Given the description of an element on the screen output the (x, y) to click on. 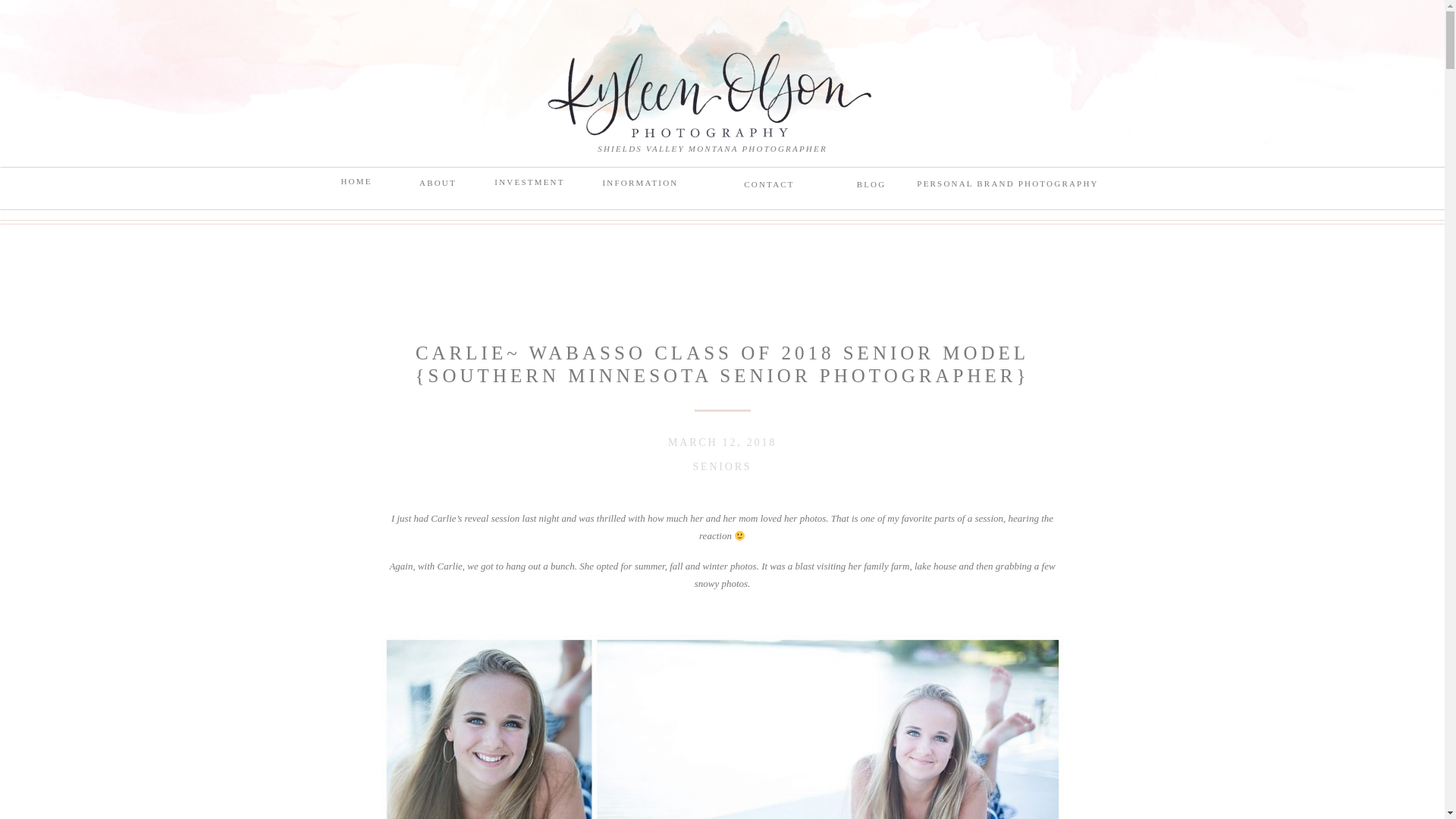
CONTACT (768, 187)
INFORMATION (640, 185)
PERSONAL BRAND PHOTOGRAPHY (1007, 187)
SENIORS (722, 466)
BLOG (872, 187)
INVESTMENT (529, 184)
HOME (356, 184)
SHIELDS VALLEY MONTANA PHOTOGRAPHER (712, 149)
ABOUT (438, 185)
